Given the description of an element on the screen output the (x, y) to click on. 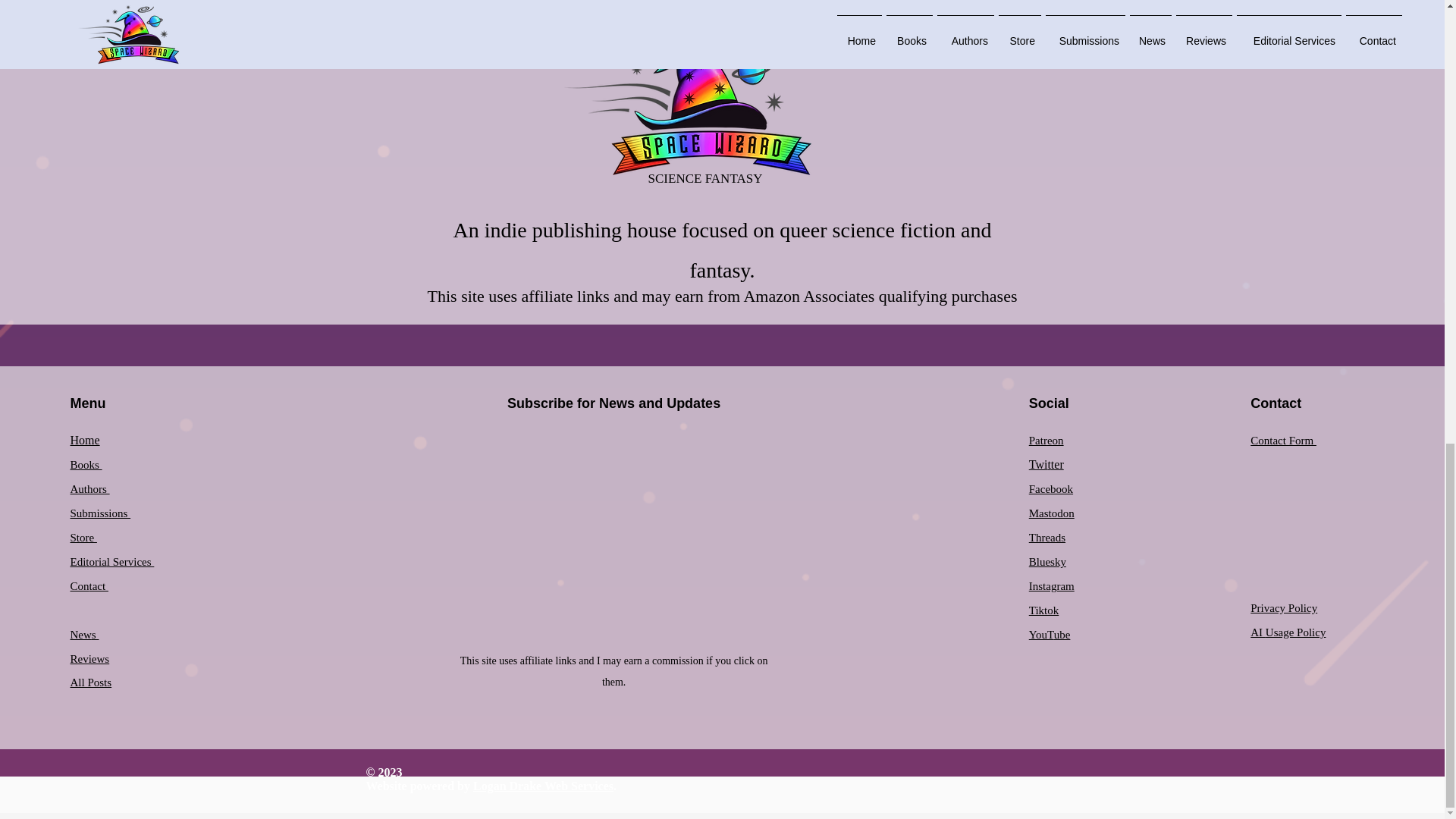
News  (84, 634)
Editorial Services  (111, 561)
Submissions  (100, 512)
Contact  (88, 585)
Patreon (1046, 440)
Reviews (89, 658)
Home (84, 440)
All Posts (90, 682)
Store  (82, 536)
Books  (85, 463)
Authors  (89, 488)
